Given the description of an element on the screen output the (x, y) to click on. 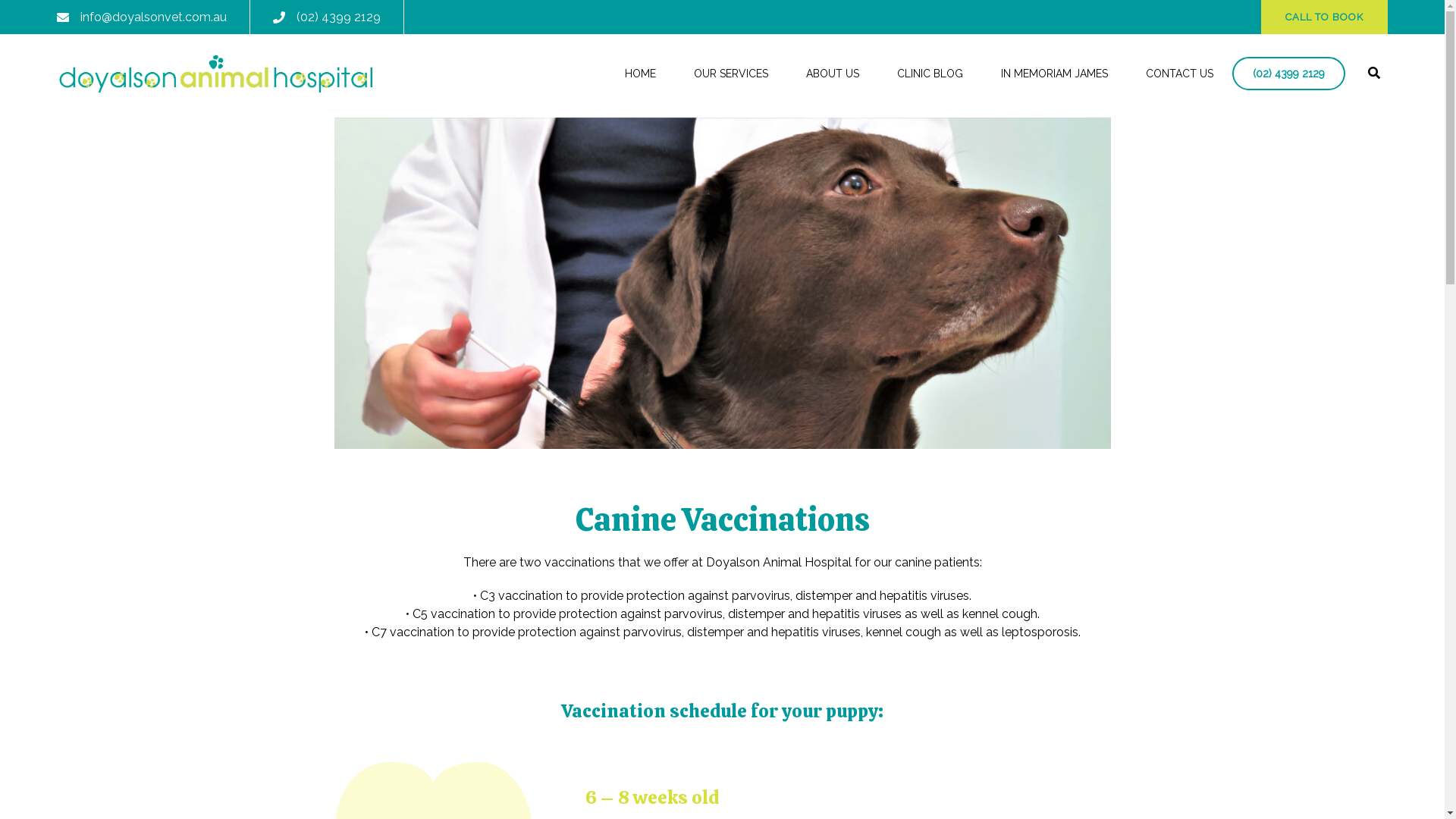
OUR SERVICES Element type: text (730, 73)
info@doyalsonvet.com.au Element type: text (153, 16)
ABOUT US Element type: text (832, 73)
(02) 4399 2129 Element type: text (338, 16)
CONTACT US Element type: text (1179, 73)
CALL TO BOOK Element type: text (1324, 17)
IN MEMORIAM JAMES Element type: text (1054, 73)
CLINIC BLOG Element type: text (930, 73)
HOME Element type: text (639, 73)
(02) 4399 2129 Element type: text (1288, 73)
